Given the description of an element on the screen output the (x, y) to click on. 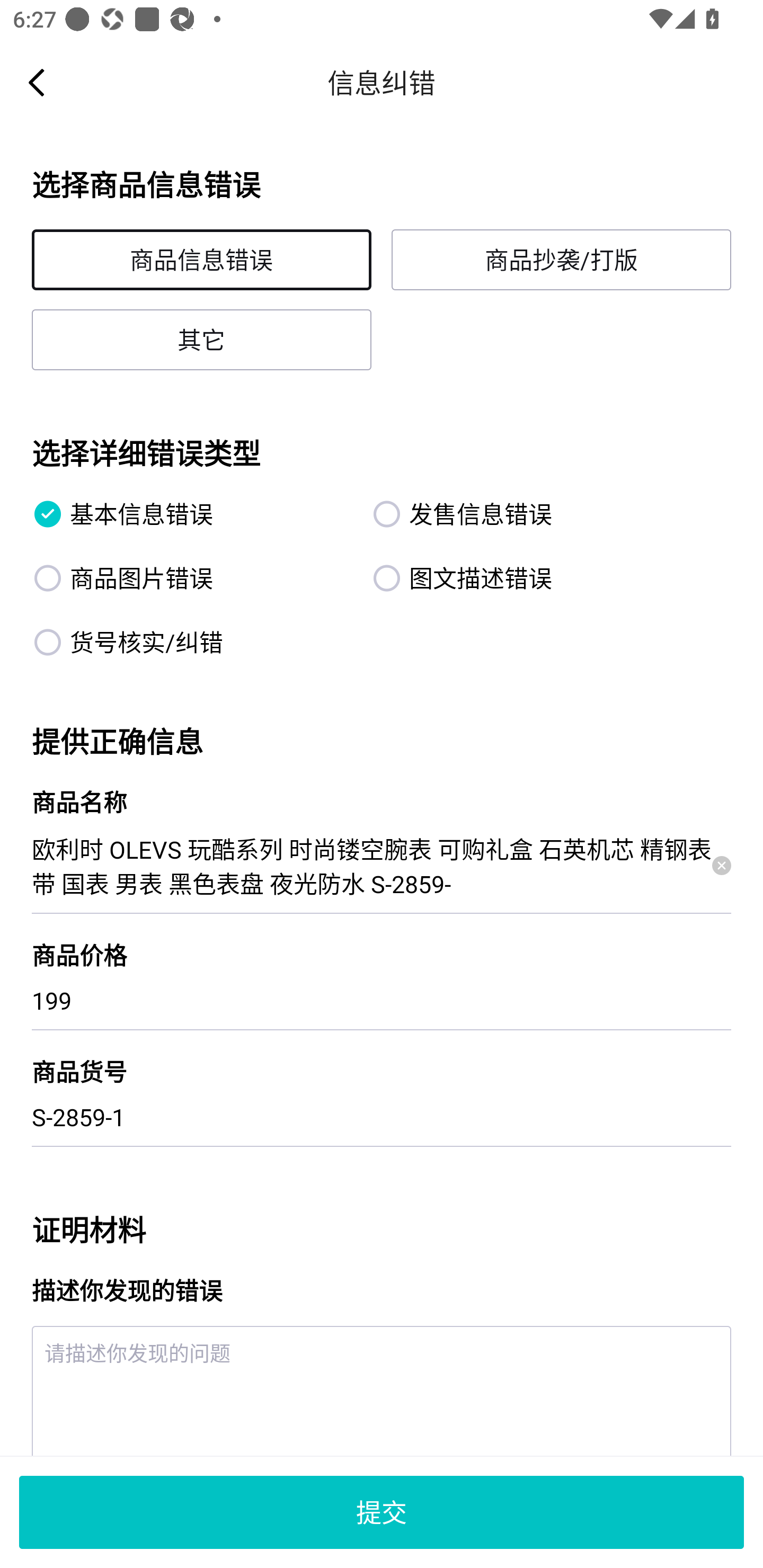
Navigate up (36, 82)
商品信息错误 (201, 259)
商品抄袭/打版 (560, 259)
其它 (201, 339)
 基本信息错误 (191, 513)
 发售信息错误 (530, 513)
 商品图片错误 (191, 577)
 图文描述错误 (530, 577)
 货号核实/纠错 (191, 641)
199 (381, 1000)
S-2859-1 (381, 1116)
请描述你发现的问题 (381, 1390)
提交 (381, 1512)
